Given the description of an element on the screen output the (x, y) to click on. 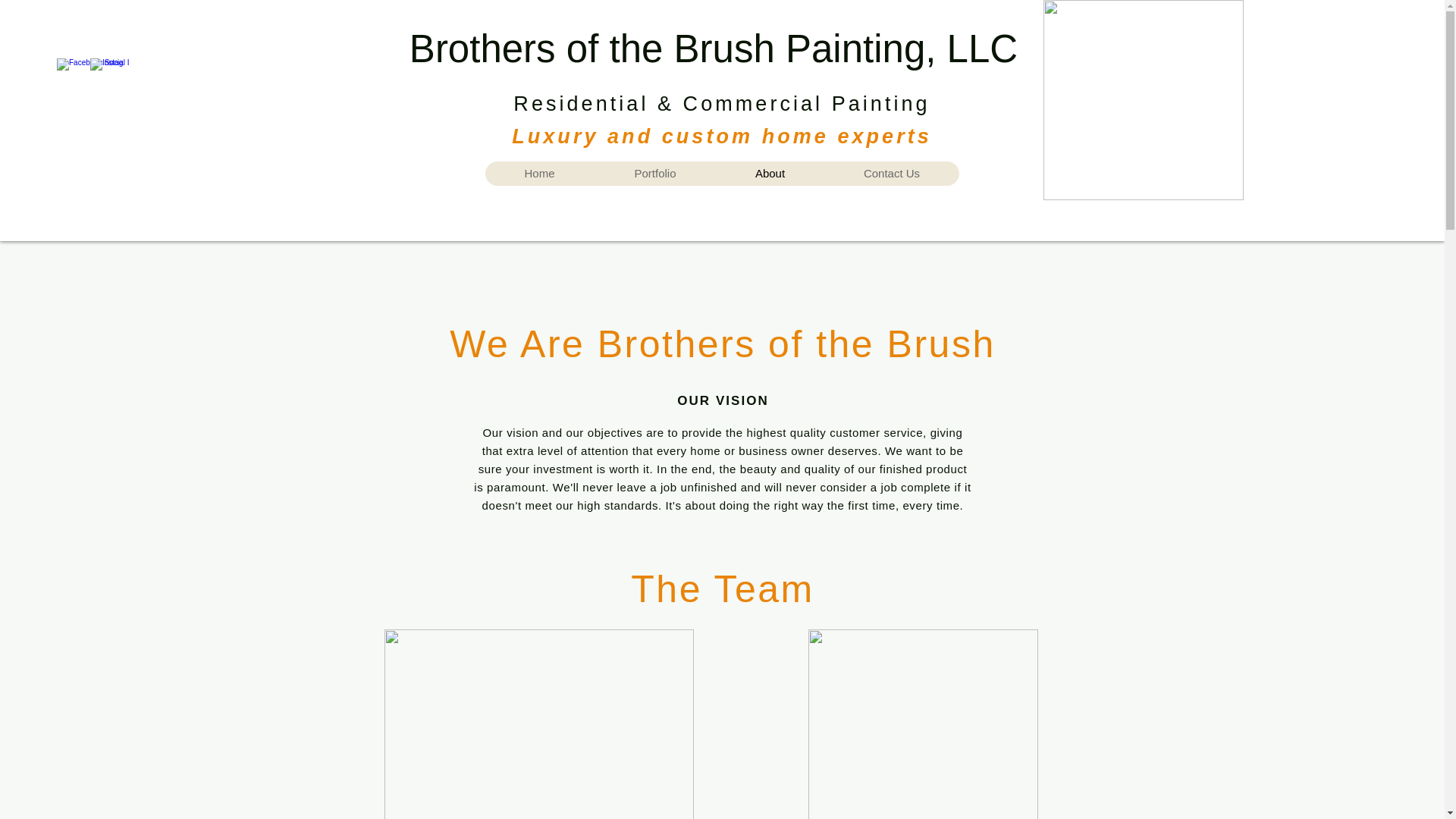
Contact Us (891, 173)
About (770, 173)
Logo-Ver7-01.jpg (1143, 99)
BrothersoftheBrush-79.jpg (923, 724)
BrothersoftheBrush-103.jpg (538, 724)
Portfolio (655, 173)
Home (539, 173)
Brothers of the Brush Painting, LLC (713, 48)
